Given the description of an element on the screen output the (x, y) to click on. 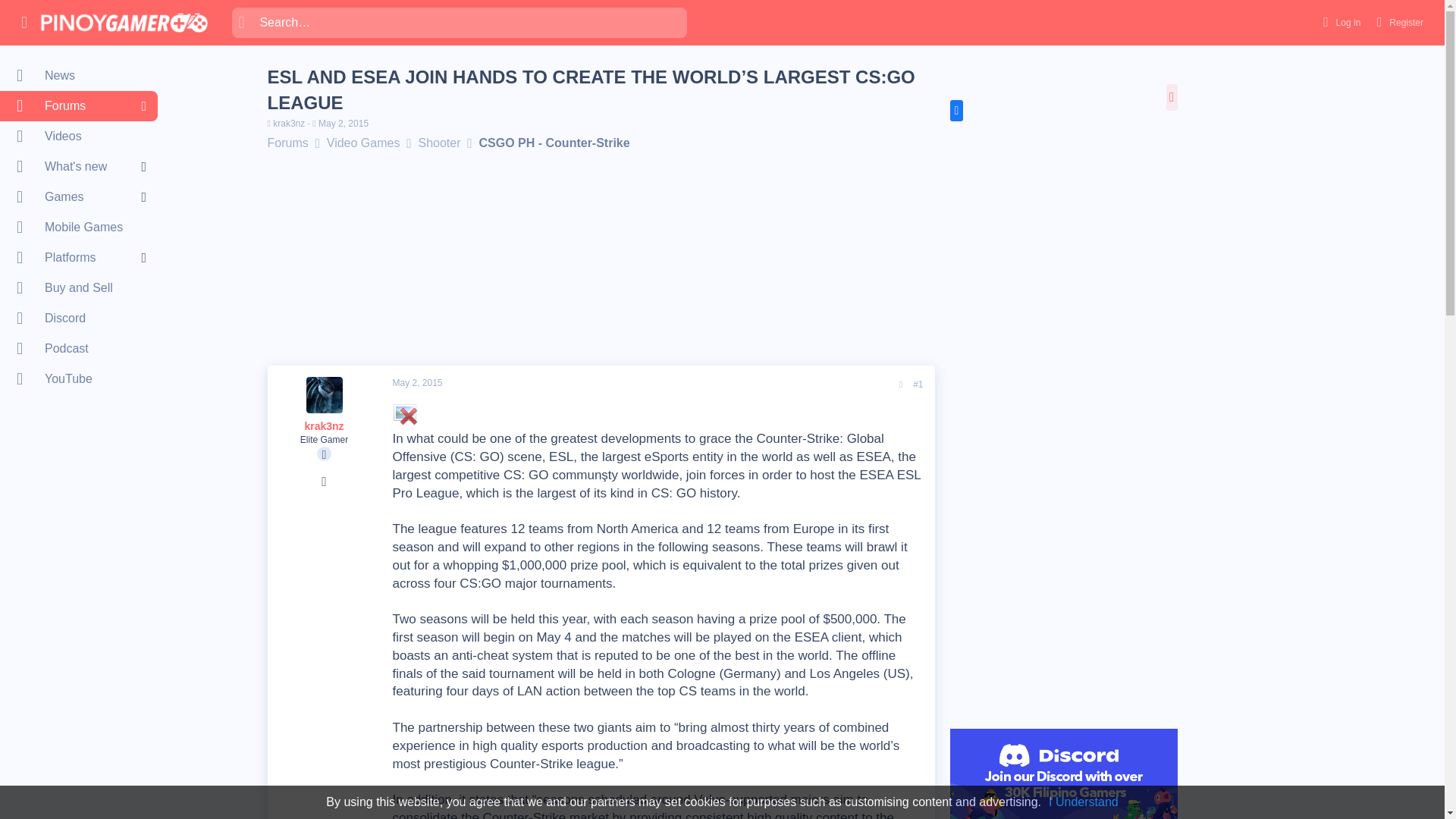
Register (1398, 21)
Original poster (324, 453)
Sidebar (1171, 97)
What's new (70, 166)
Log in (1340, 21)
May 2, 2015 at 2:14 PM (343, 122)
Forums (70, 105)
News (78, 75)
Videos (78, 136)
